Given the description of an element on the screen output the (x, y) to click on. 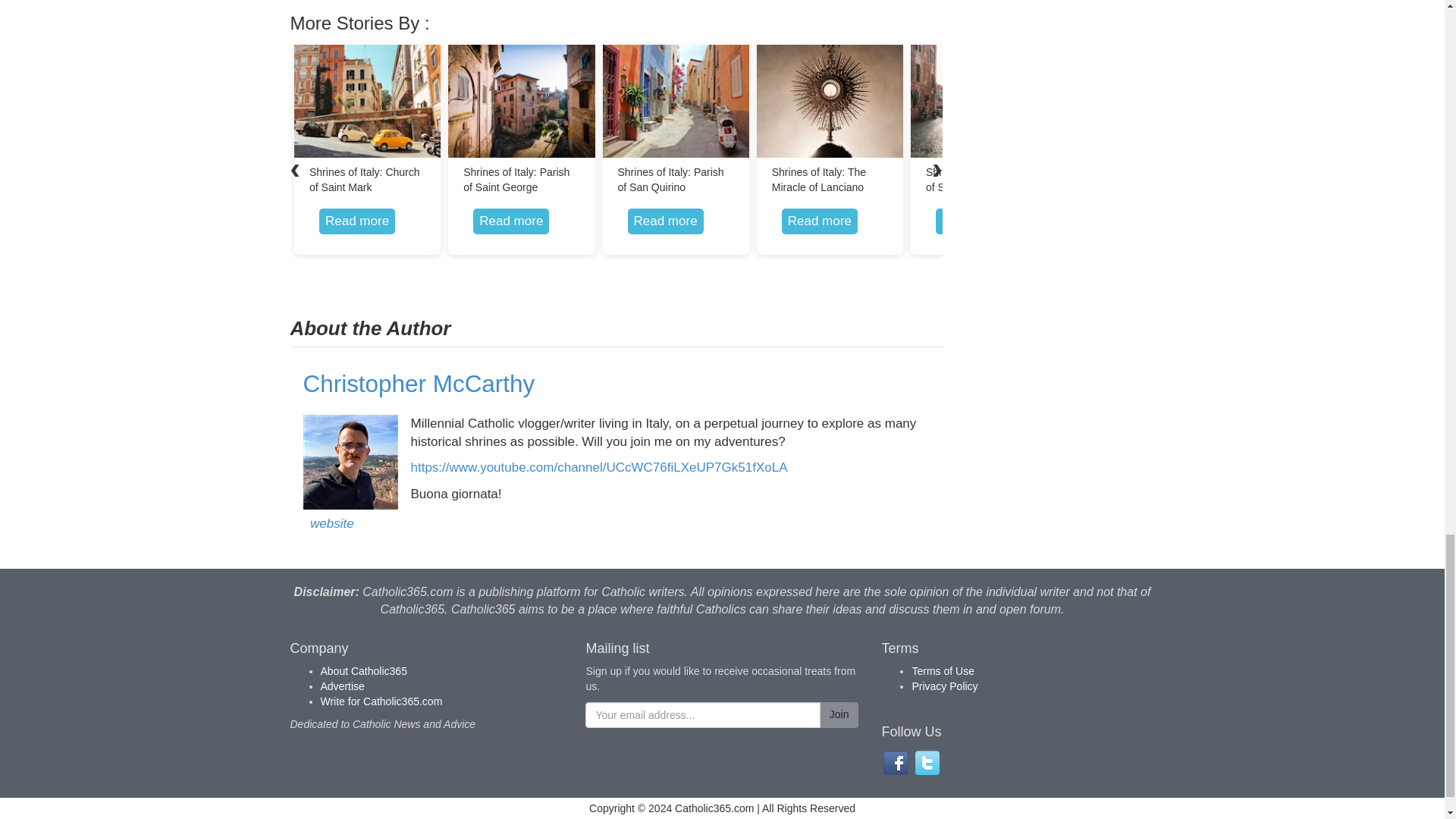
Facebook (895, 762)
Join (839, 714)
Twitter (927, 762)
